Given the description of an element on the screen output the (x, y) to click on. 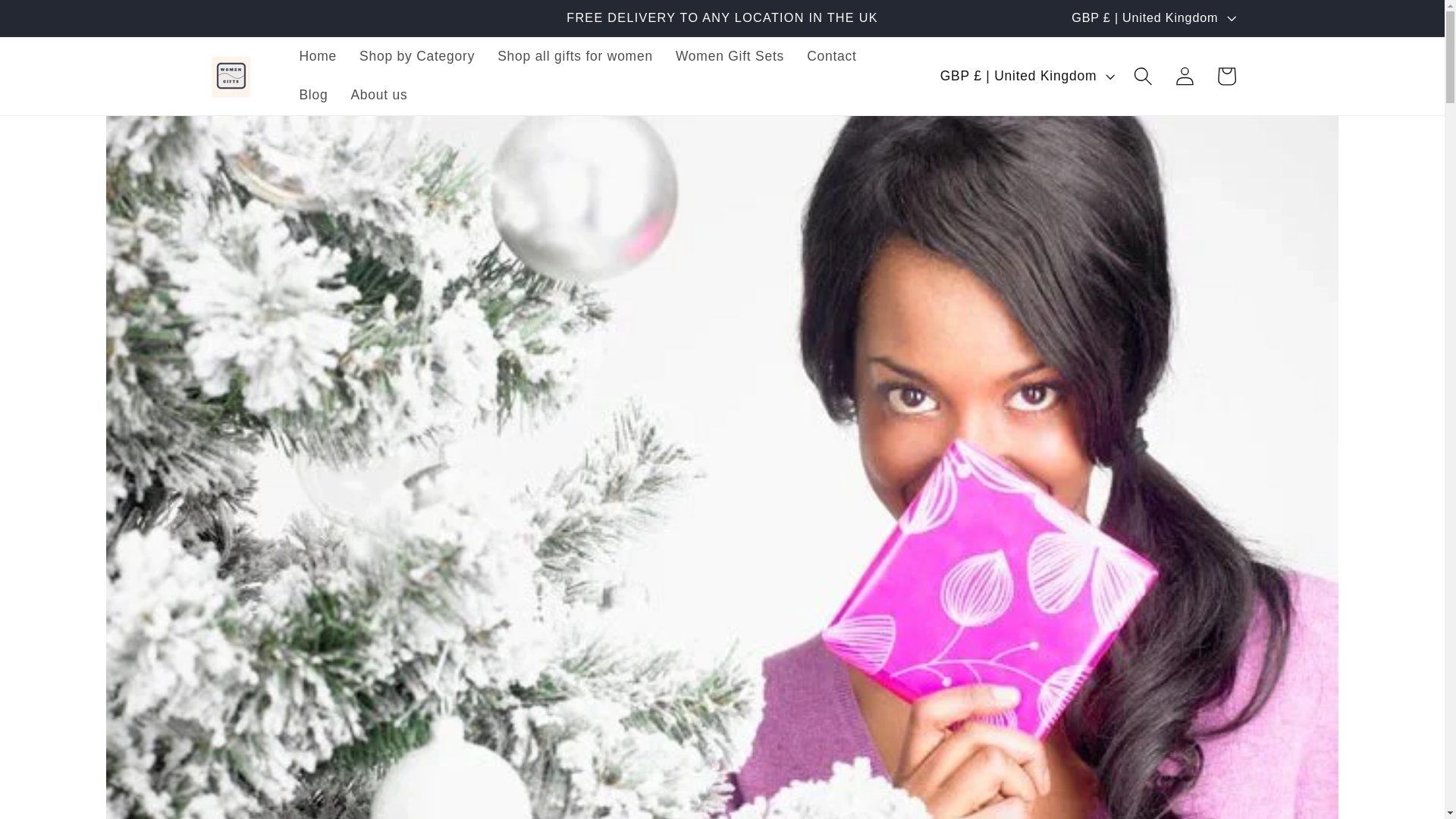
Home (316, 56)
Skip to content (57, 21)
Shop all gifts for women (574, 56)
Contact (830, 56)
Cart (1226, 76)
About us (379, 95)
Shop by Category (416, 56)
Women Gift Sets (728, 56)
Blog (312, 95)
Log in (1184, 76)
